Given the description of an element on the screen output the (x, y) to click on. 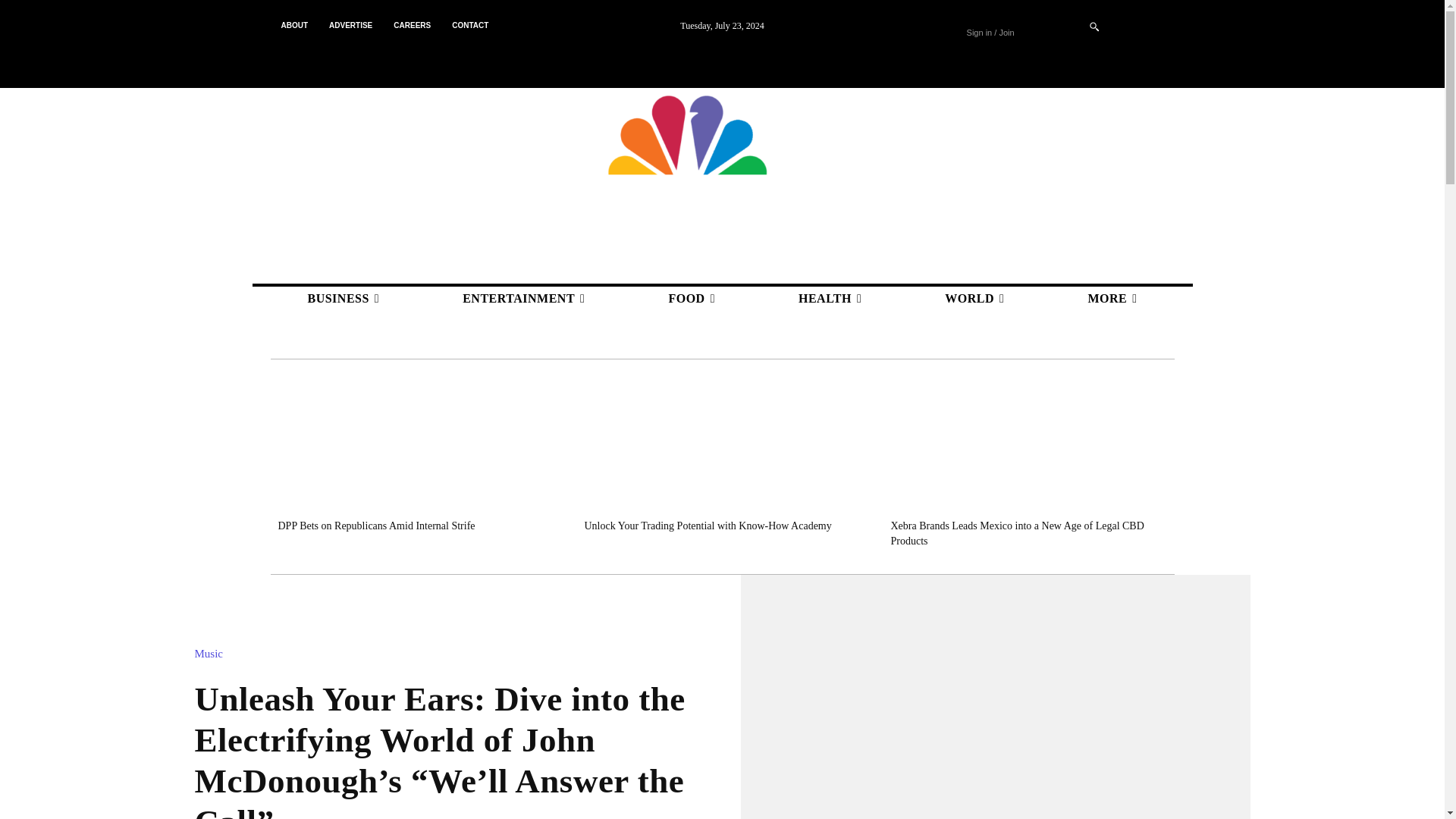
ABOUT (293, 25)
CAREERS (411, 25)
CONTACT (470, 25)
ADVERTISE (350, 25)
ENTERTAINMENT (523, 298)
BUSINESS (342, 298)
